Given the description of an element on the screen output the (x, y) to click on. 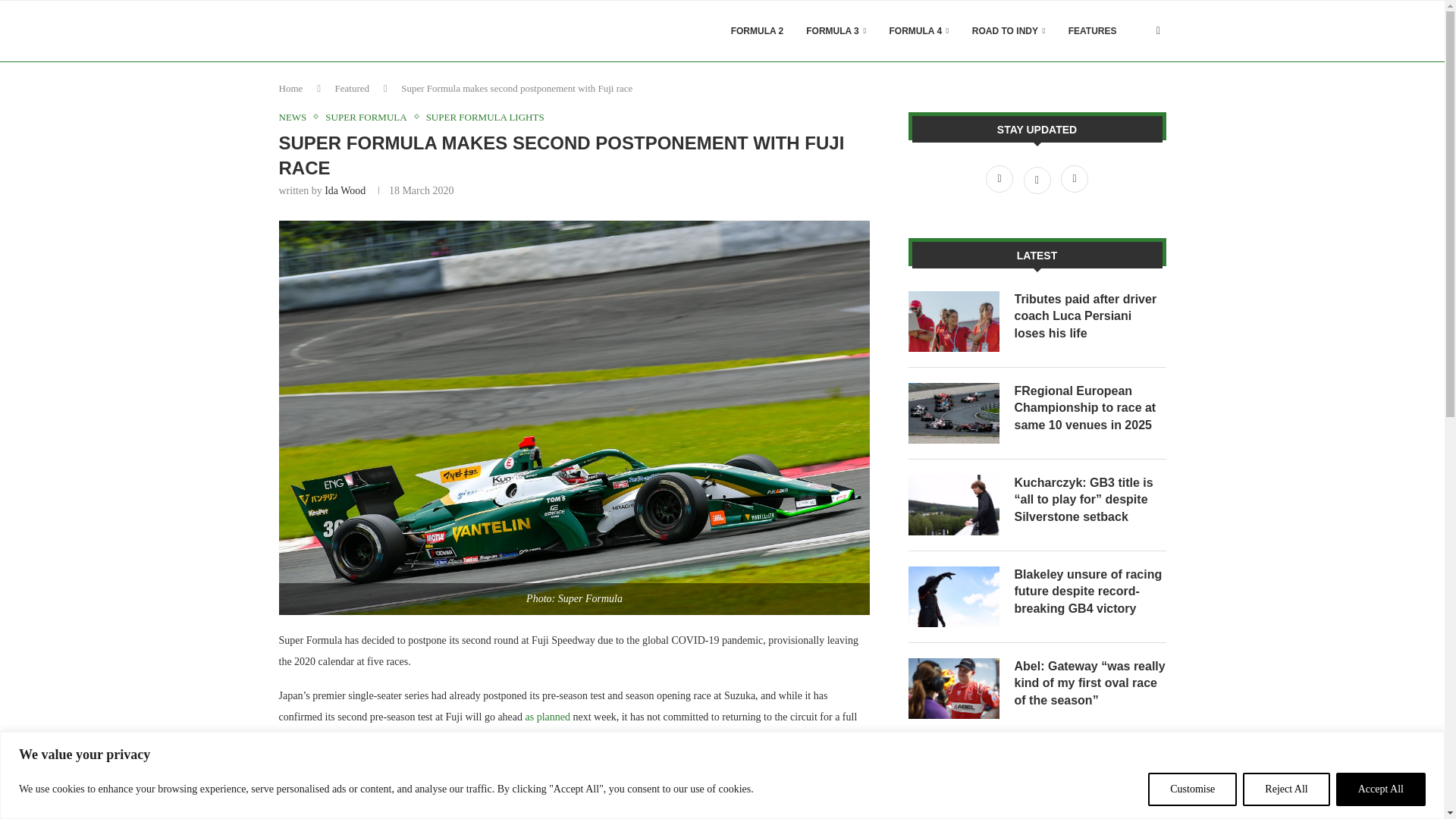
FORMULA 3 (836, 30)
Customise (1192, 788)
Featured (351, 88)
SUPER FORMULA (368, 117)
ROAD TO INDY (1008, 30)
NEWS (296, 117)
